Given the description of an element on the screen output the (x, y) to click on. 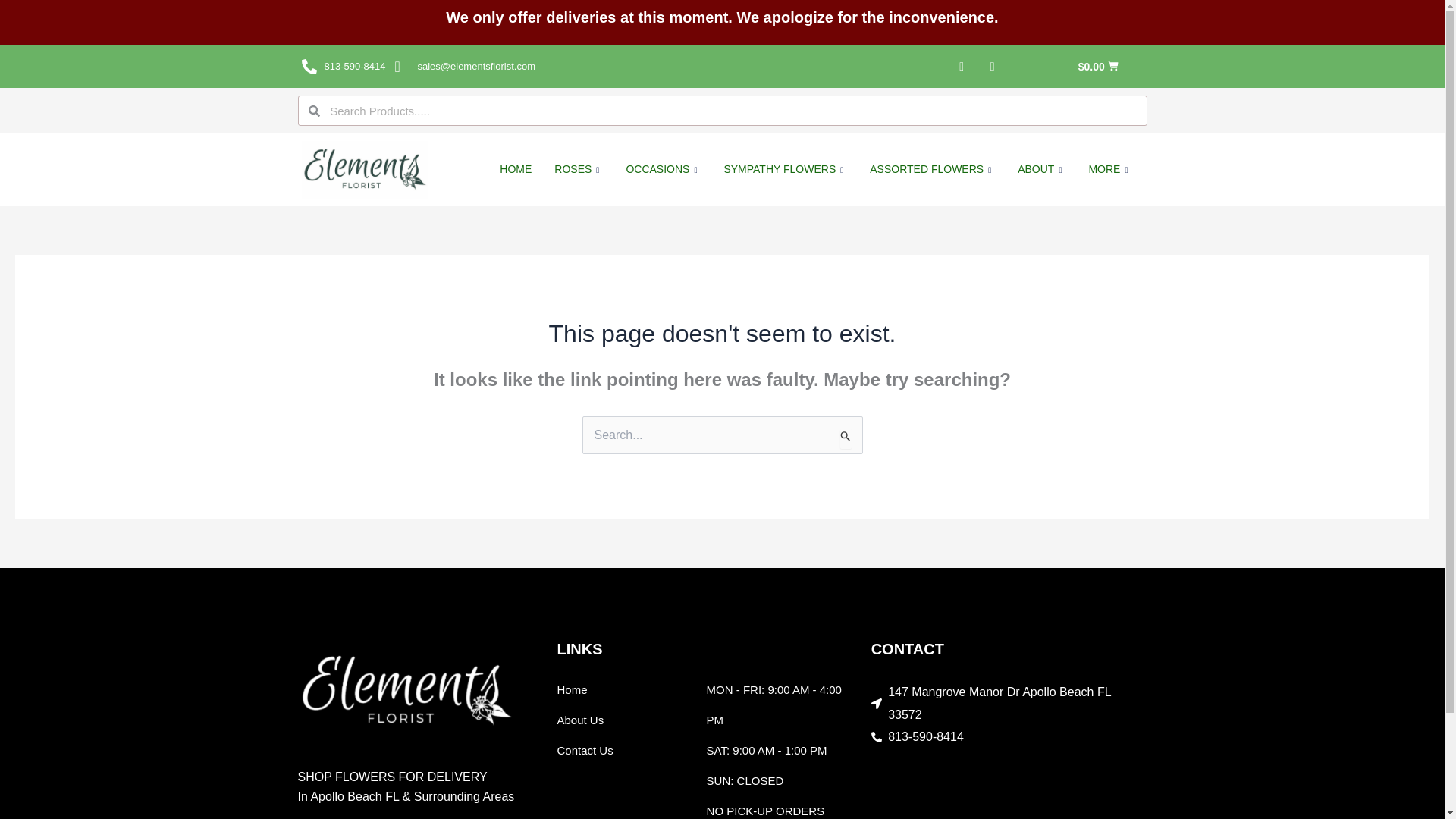
ABOUT (1041, 169)
813-590-8414 (343, 66)
HOME (515, 169)
MORE (1109, 169)
OCCASIONS (662, 169)
SYMPATHY FLOWERS (785, 169)
ROSES (578, 169)
ASSORTED FLOWERS (932, 169)
